Given the description of an element on the screen output the (x, y) to click on. 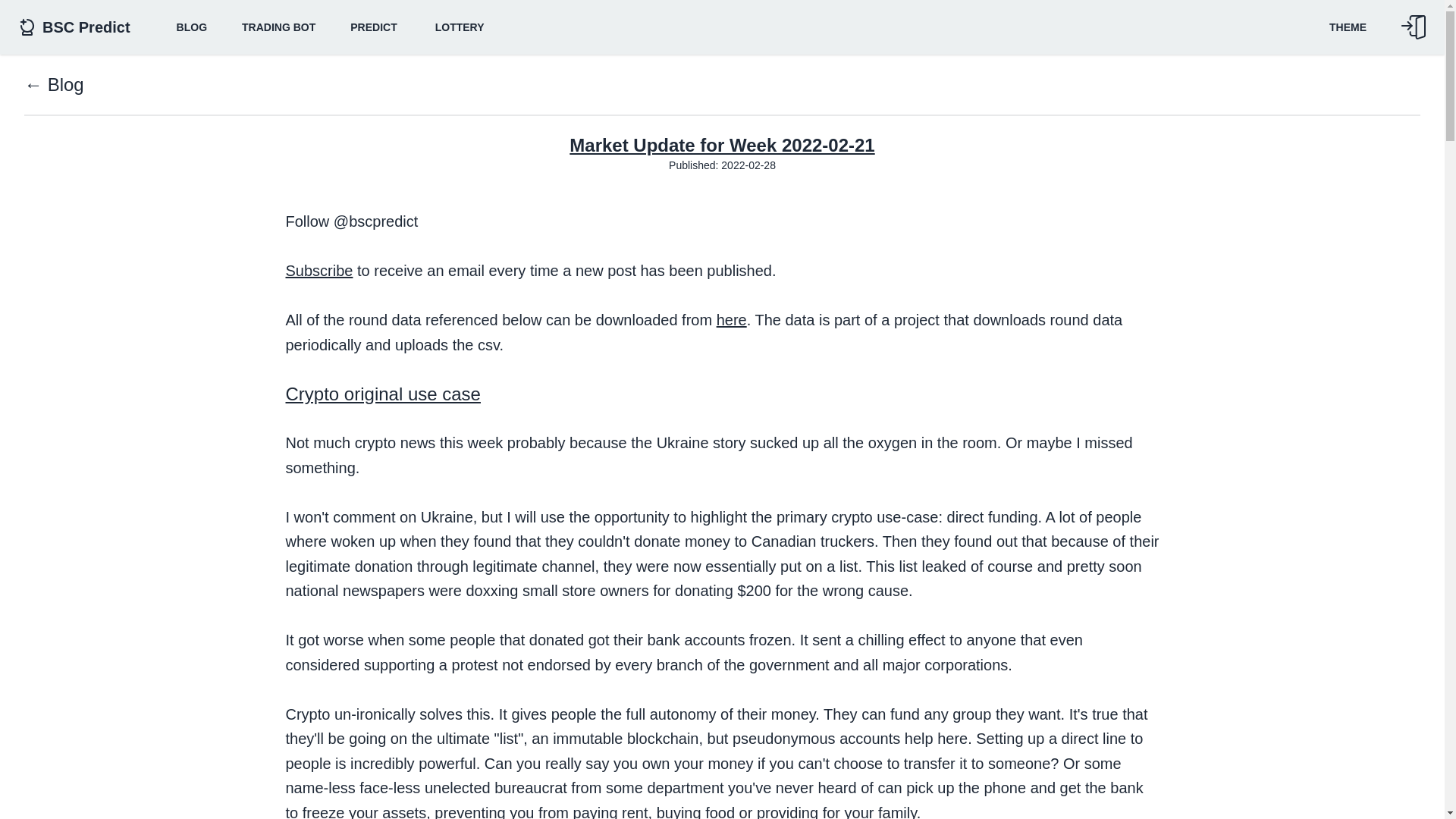
BLOG (191, 27)
here (731, 320)
BSC Predict (76, 26)
TRADING BOT (277, 27)
Subscribe (318, 270)
